Given the description of an element on the screen output the (x, y) to click on. 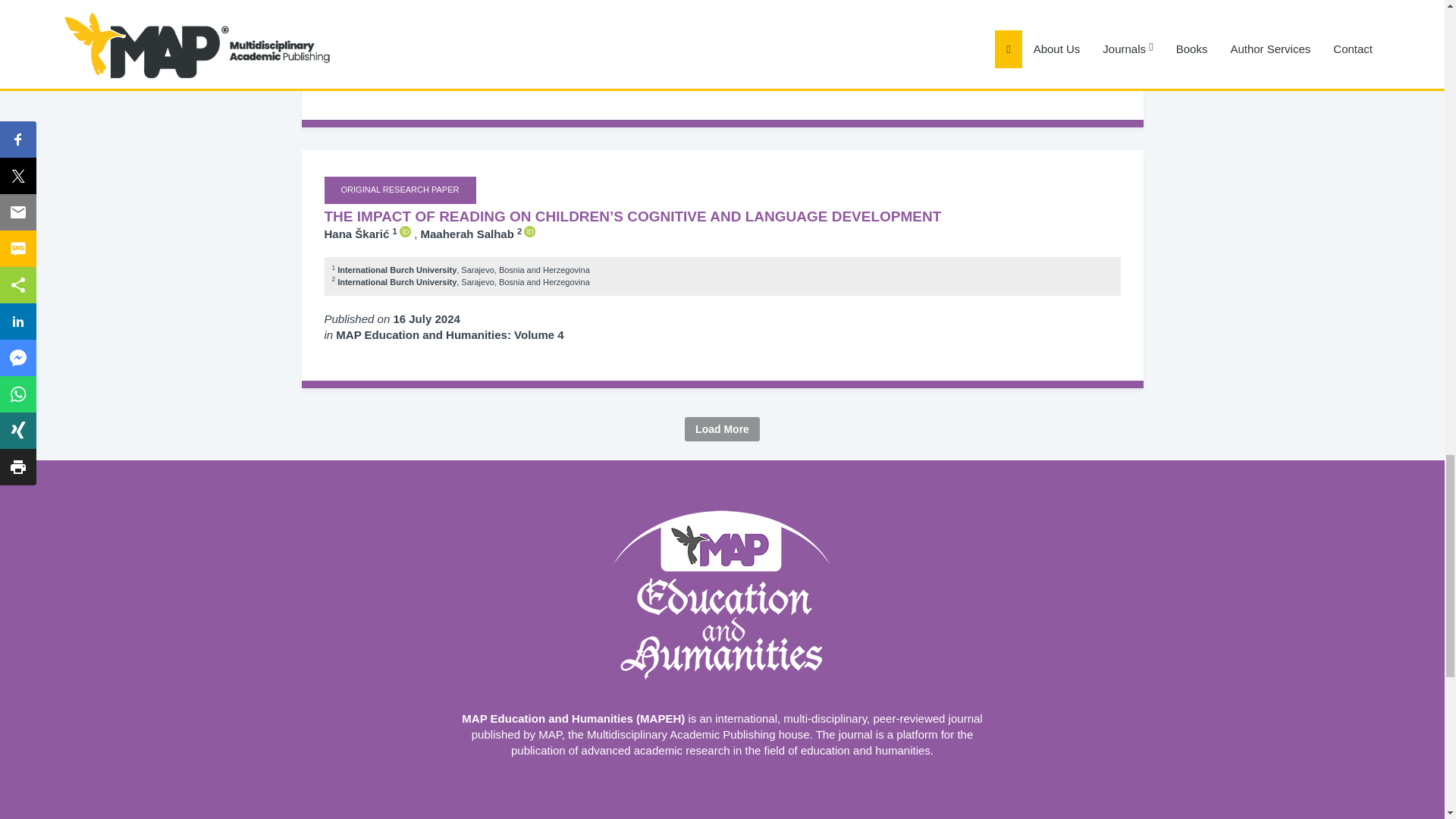
MAP Education and Humanities: Volume 4 (449, 334)
30 July 2024 (426, 57)
16 July 2024 (426, 318)
MAP Education and Humanities: Volume 5 (449, 73)
